Given the description of an element on the screen output the (x, y) to click on. 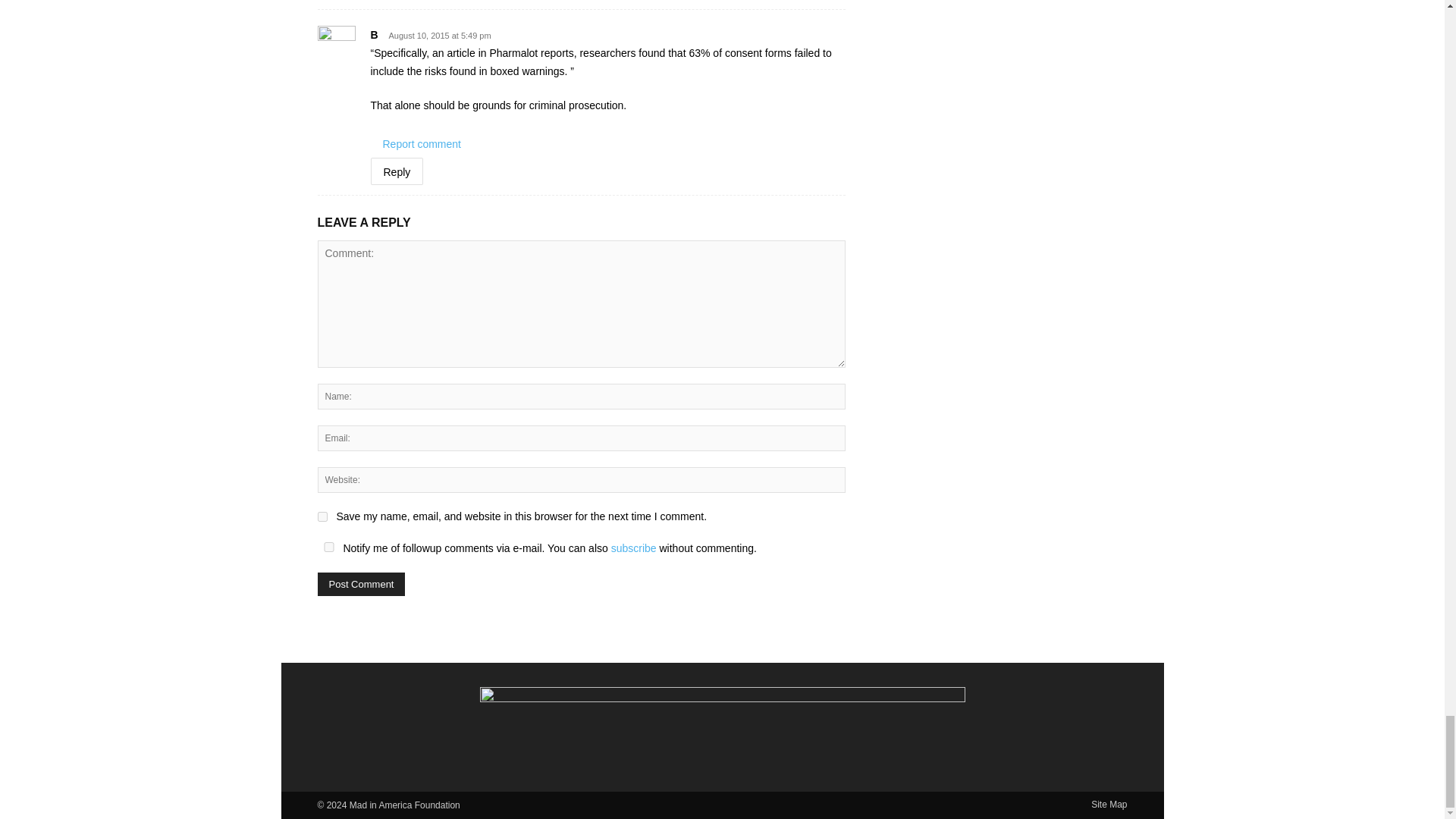
Post Comment (360, 584)
yes (321, 516)
yes (328, 547)
